Given the description of an element on the screen output the (x, y) to click on. 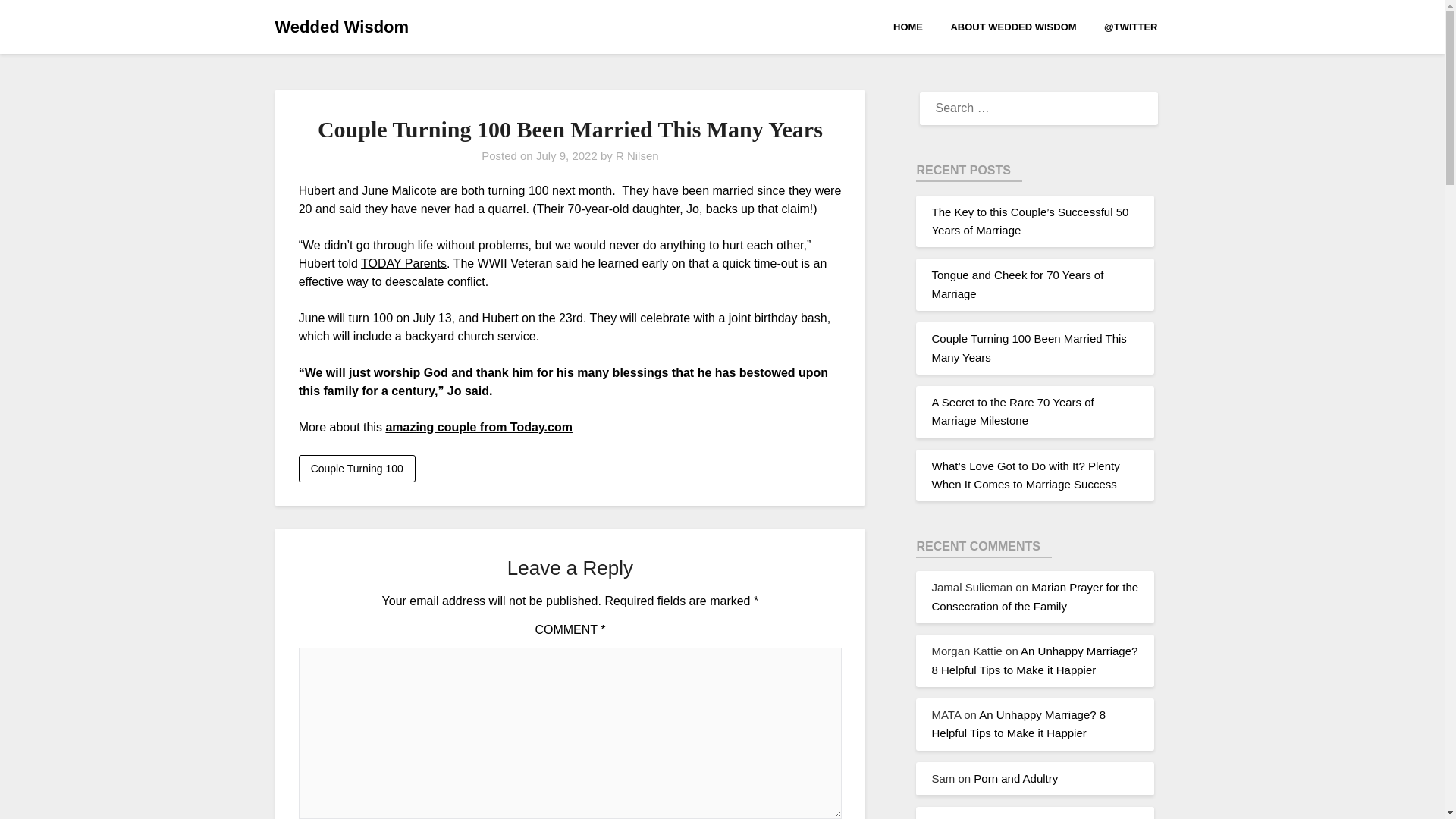
Marian Prayer for the Consecration of the Family (1034, 595)
HOME (913, 26)
amazing couple from Today.com (478, 427)
Couple Turning 100 Been Married This Many Years (1028, 347)
An Unhappy Marriage? 8 Helpful Tips to Make it Happier (1034, 659)
A Secret to the Rare 70 Years of Marriage Milestone (1012, 410)
July 9, 2022 (565, 155)
TODAY Parents (403, 263)
Porn and Adultry (1016, 778)
ABOUT WEDDED WISDOM (1012, 26)
